Given the description of an element on the screen output the (x, y) to click on. 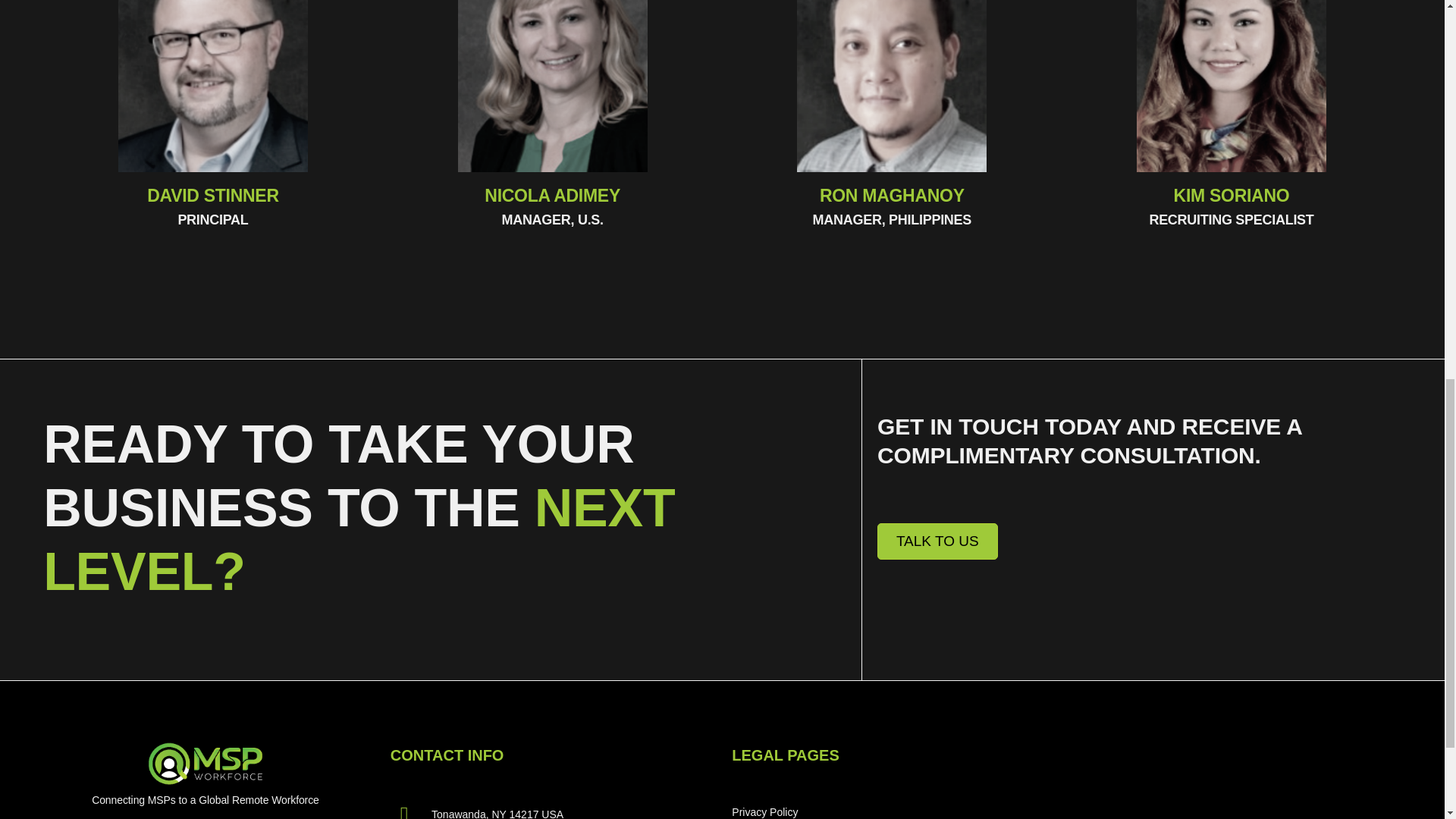
TALK TO US (937, 541)
Privacy Policy (860, 806)
